Given the description of an element on the screen output the (x, y) to click on. 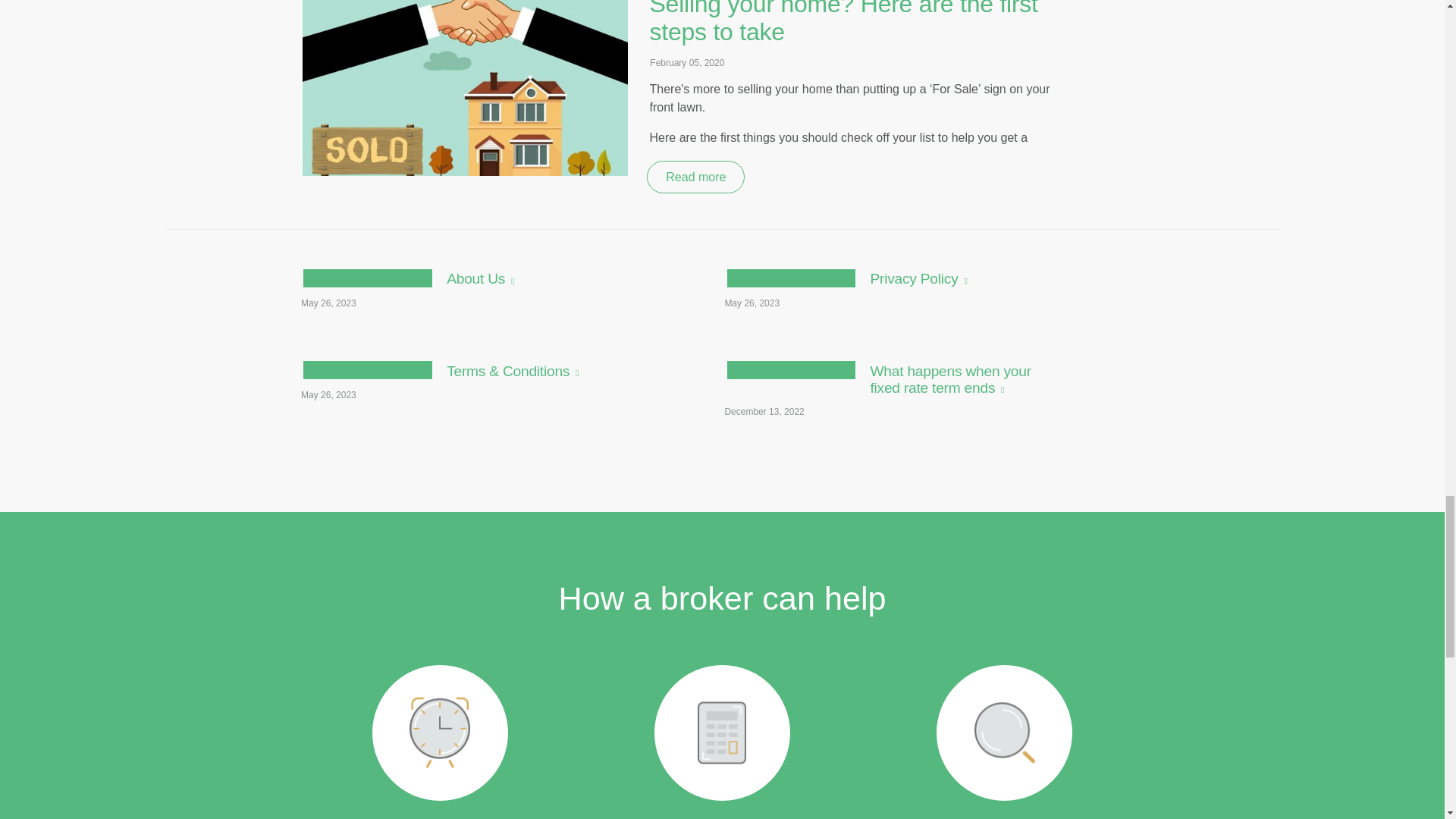
Selling your home? Here are the first steps to take (848, 22)
Read more (467, 293)
